Given the description of an element on the screen output the (x, y) to click on. 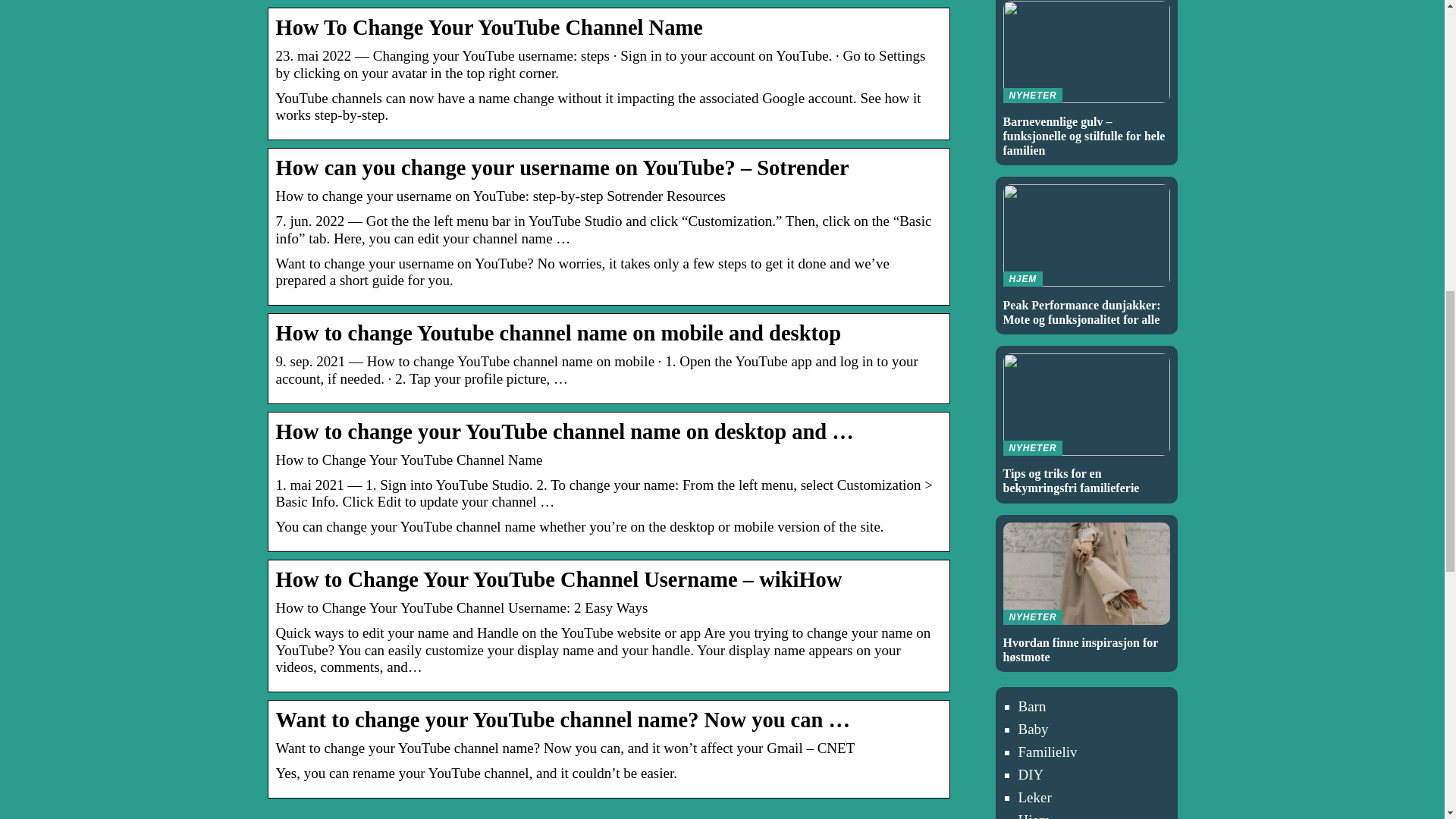
Hjem (1033, 815)
Baby (1032, 729)
Leker (1034, 797)
Barn (1031, 706)
DIY (1030, 774)
Familieliv (1086, 424)
